Given the description of an element on the screen output the (x, y) to click on. 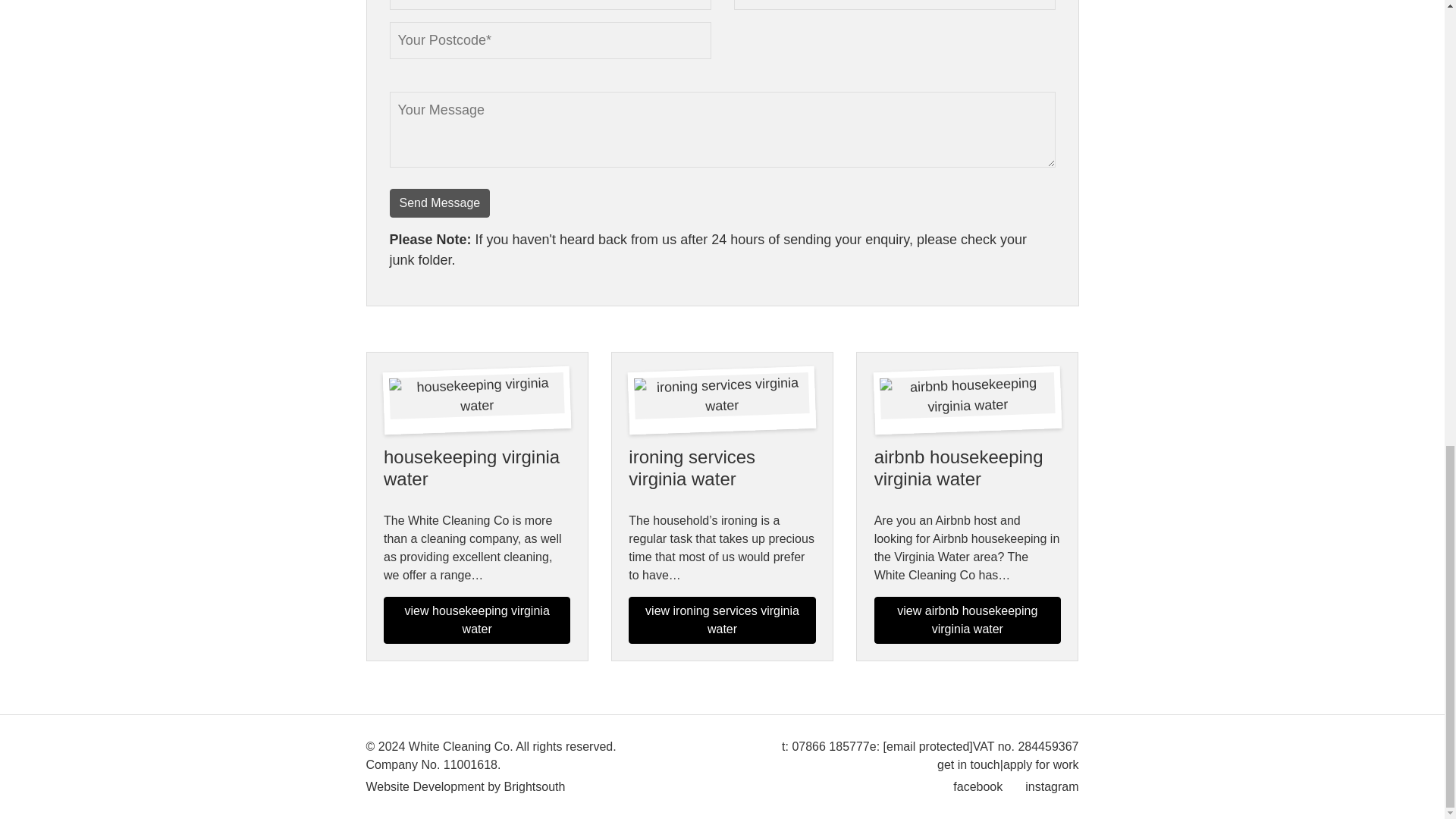
instagram (1051, 786)
apply for work (1040, 764)
view housekeeping virginia water (477, 620)
get in touch (968, 764)
Website Development by Brightsouth (464, 786)
Send Message (440, 203)
view ironing services virginia water (721, 620)
view airbnb housekeeping virginia water (968, 620)
Send Message (440, 203)
facebook (978, 786)
